Given the description of an element on the screen output the (x, y) to click on. 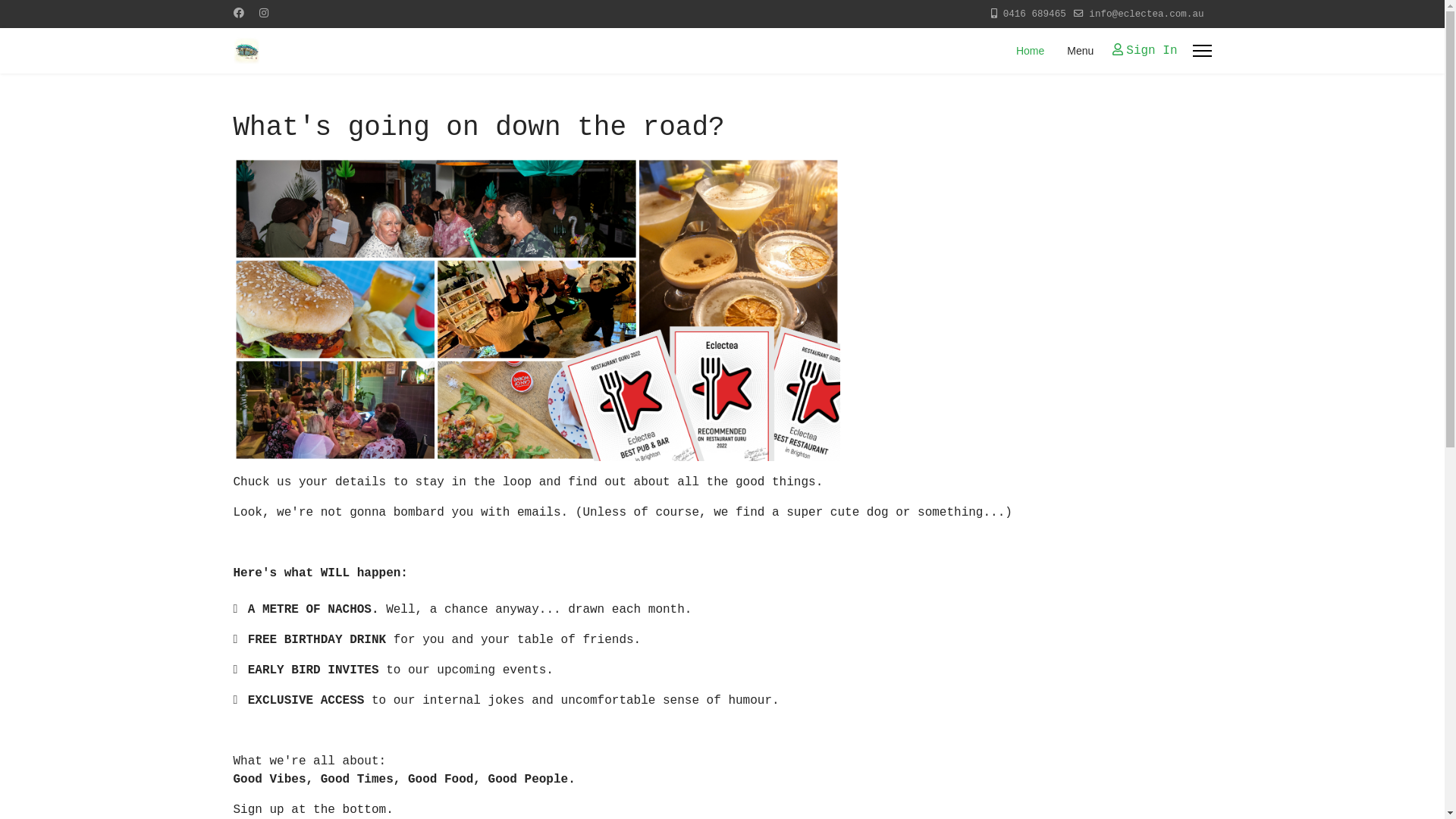
info@eclectea.com.au Element type: text (1145, 14)
Menu Element type: text (1074, 50)
Menu Element type: hover (1201, 50)
0416 689465 Element type: text (1034, 14)
Sign In Element type: text (1144, 50)
Home Element type: text (1029, 50)
